Given the description of an element on the screen output the (x, y) to click on. 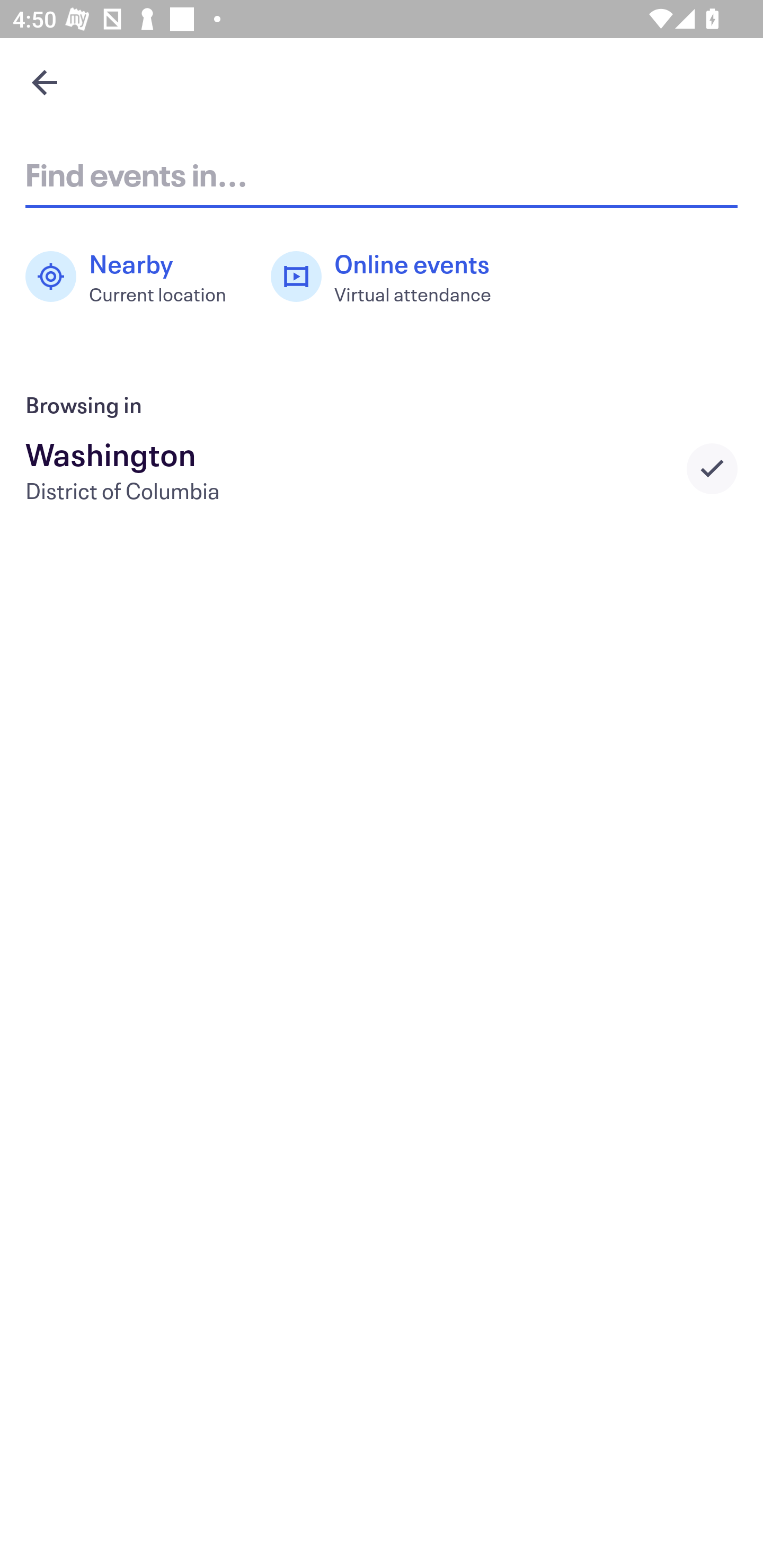
Navigate up (44, 82)
Find events in... (381, 173)
Nearby Current location (135, 276)
Online events Virtual attendance (390, 276)
Washington District of Columbia Selected city (381, 468)
